Given the description of an element on the screen output the (x, y) to click on. 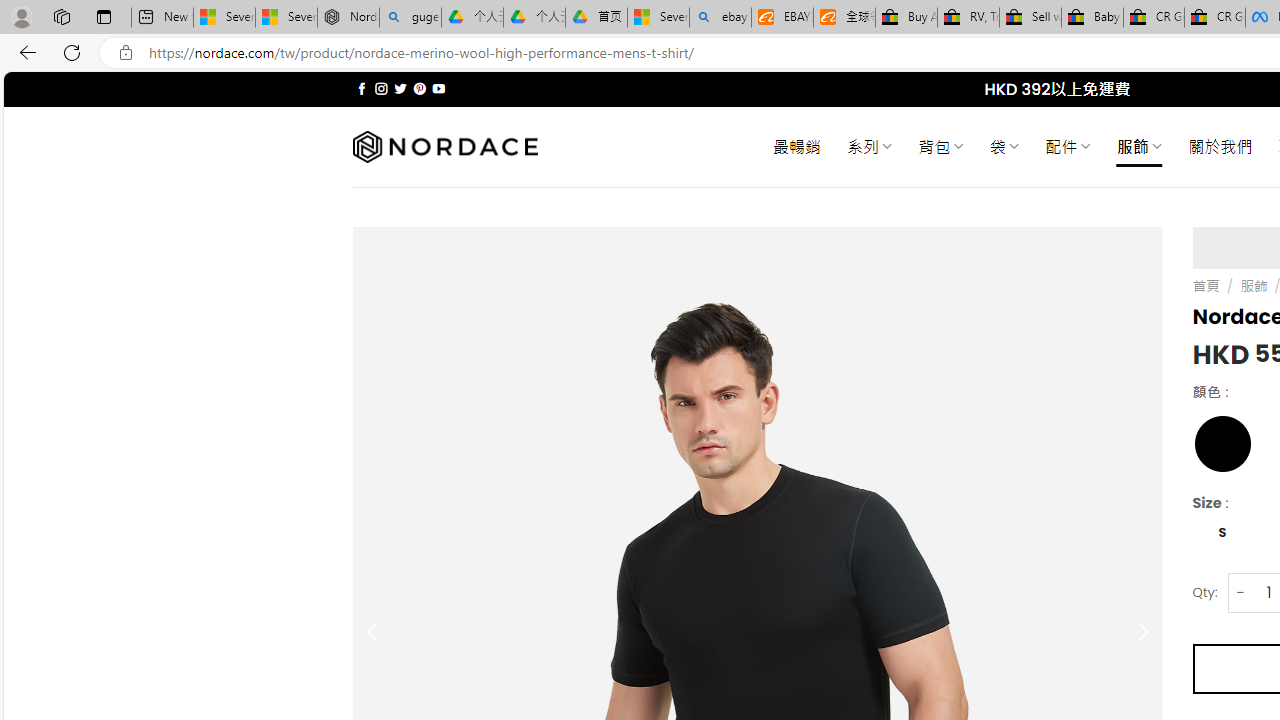
Buy Auto Parts & Accessories | eBay (905, 17)
Follow on Pinterest (419, 88)
Follow on YouTube (438, 88)
Sell worldwide with eBay (1030, 17)
Follow on Facebook (361, 88)
